Given the description of an element on the screen output the (x, y) to click on. 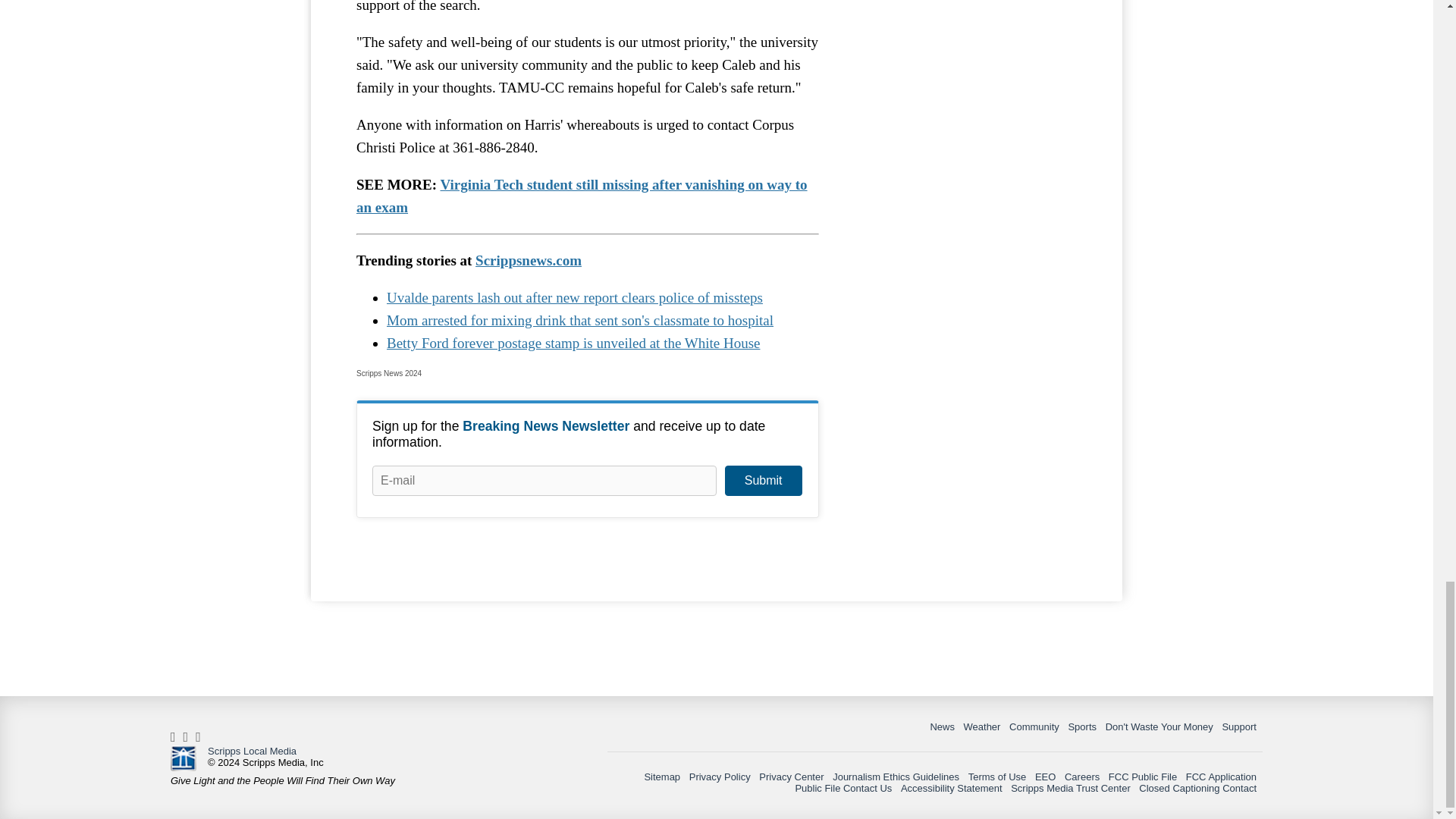
Submit (763, 481)
